Given the description of an element on the screen output the (x, y) to click on. 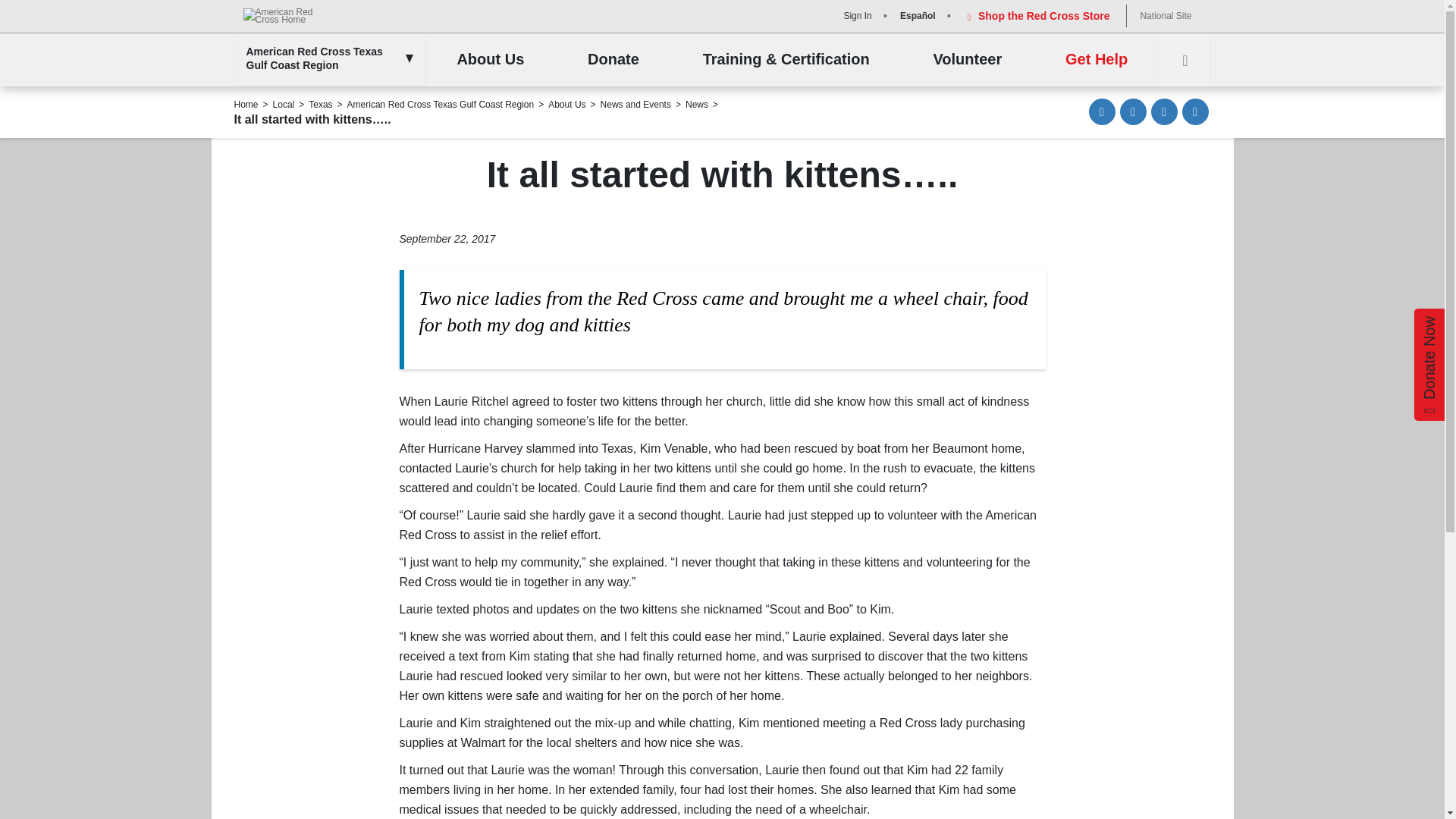
About Us (490, 59)
Sign In (855, 15)
Tweet (1164, 111)
Share via Email (1102, 111)
American Red Cross Texas Gulf Coast Region (325, 58)
Other share options (1194, 111)
Share on Facebook (1132, 111)
Donate (613, 59)
National Site (1164, 15)
Shop the Red Cross Store (1035, 15)
